Given the description of an element on the screen output the (x, y) to click on. 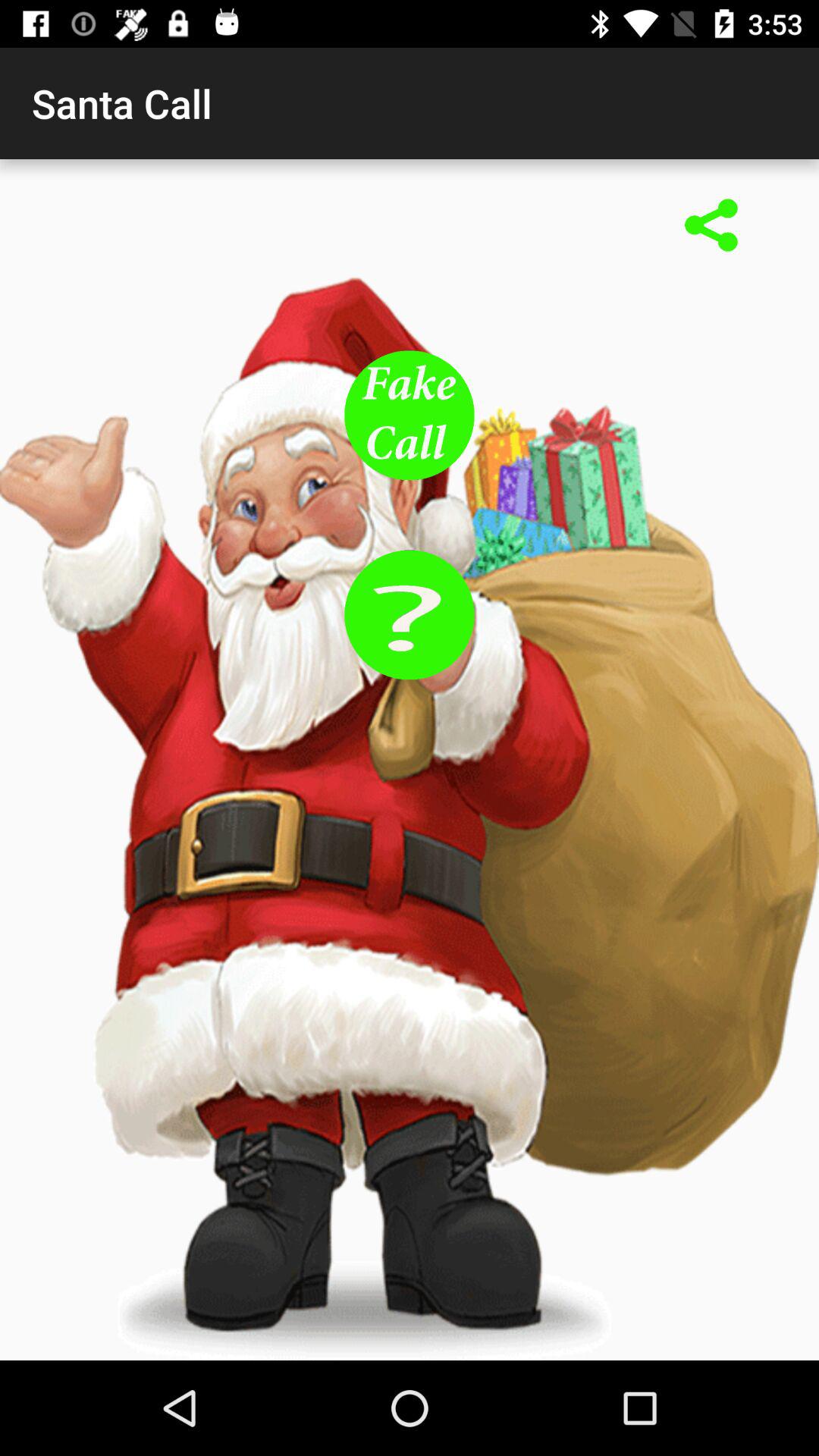
menu paga (711, 226)
